Given the description of an element on the screen output the (x, y) to click on. 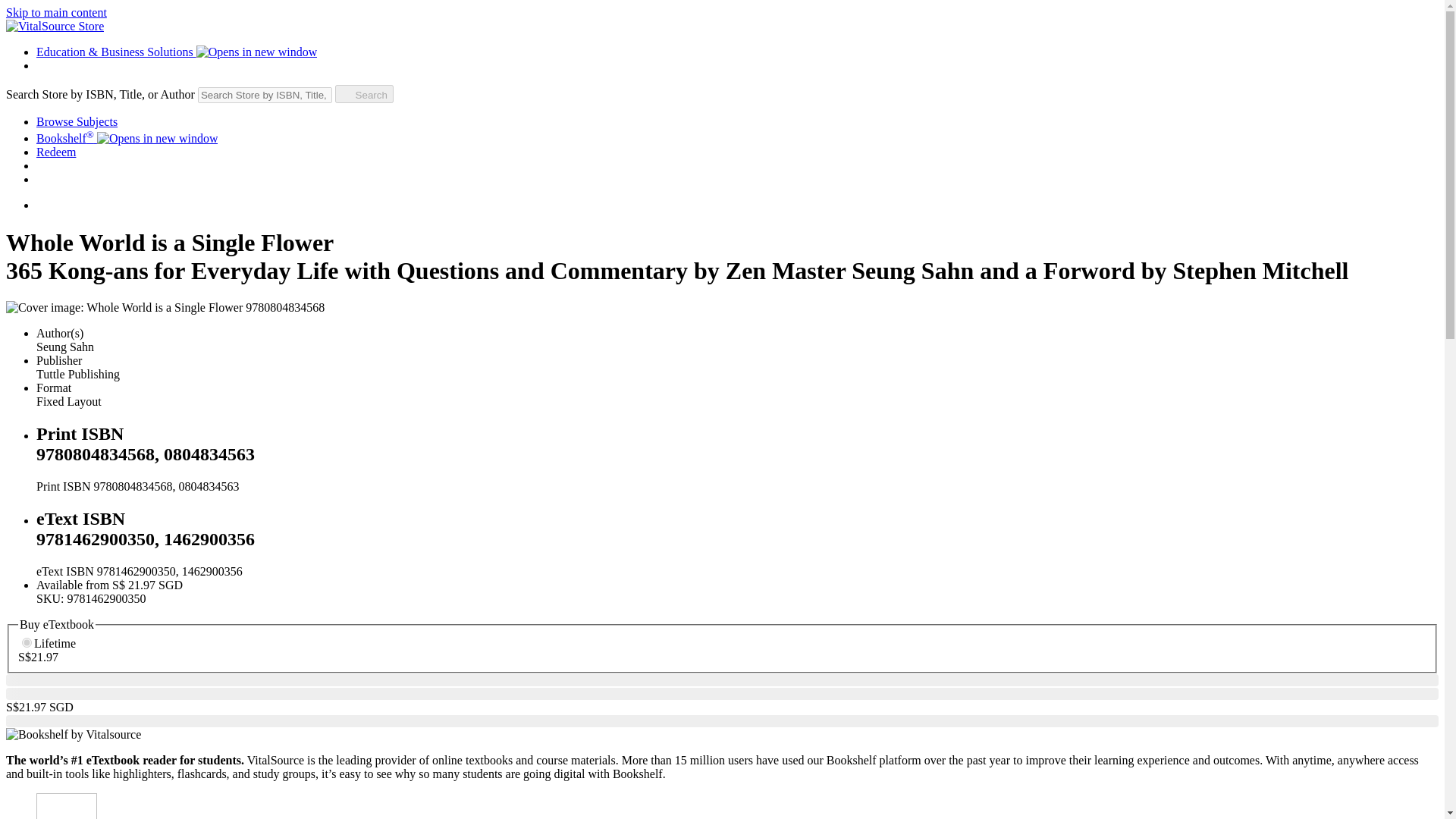
Browse Subjects (76, 121)
Search (363, 94)
1517491480 (26, 642)
Redeem (55, 151)
